Given the description of an element on the screen output the (x, y) to click on. 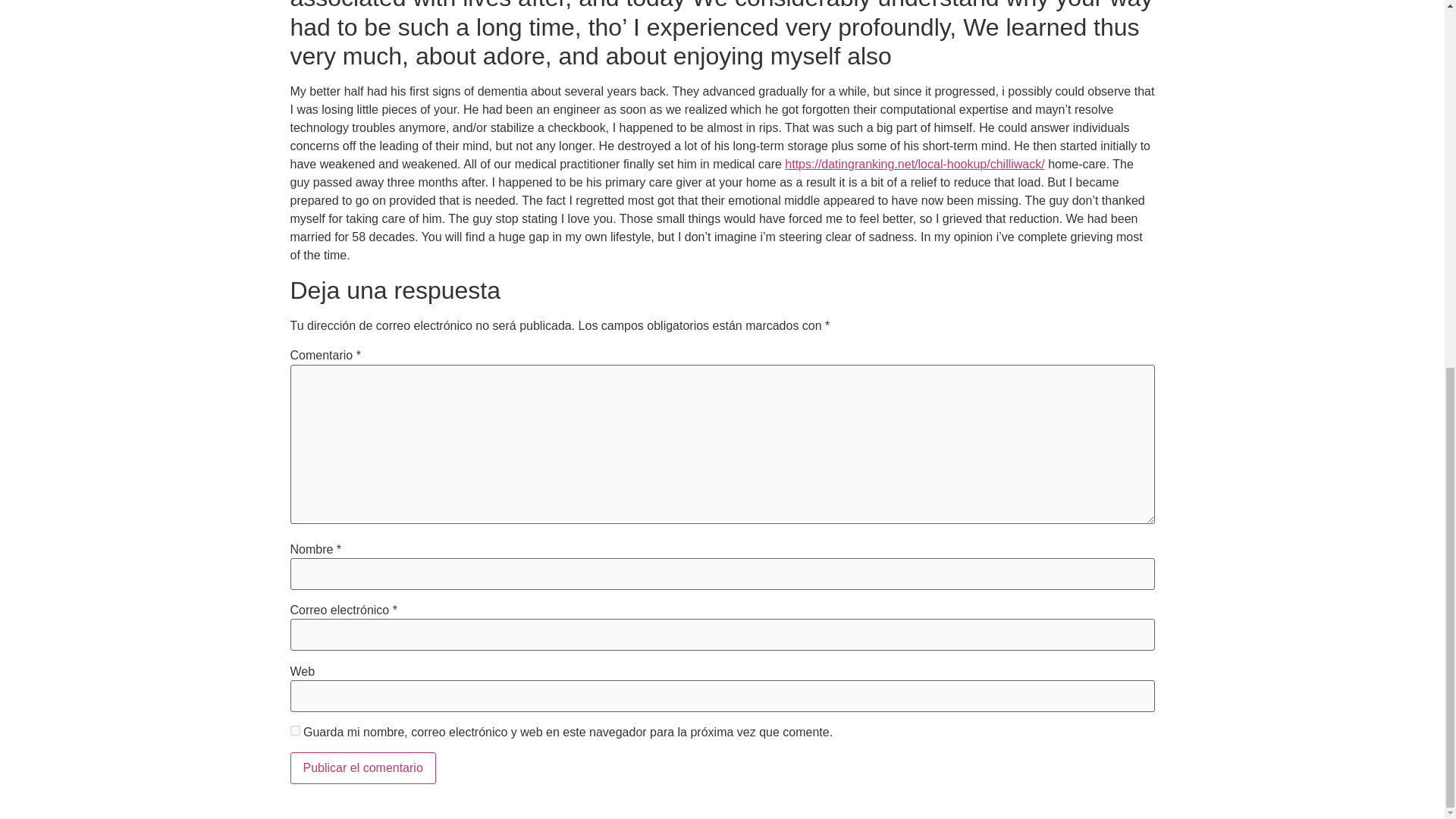
Publicar el comentario (362, 767)
yes (294, 730)
Publicar el comentario (362, 767)
